Given the description of an element on the screen output the (x, y) to click on. 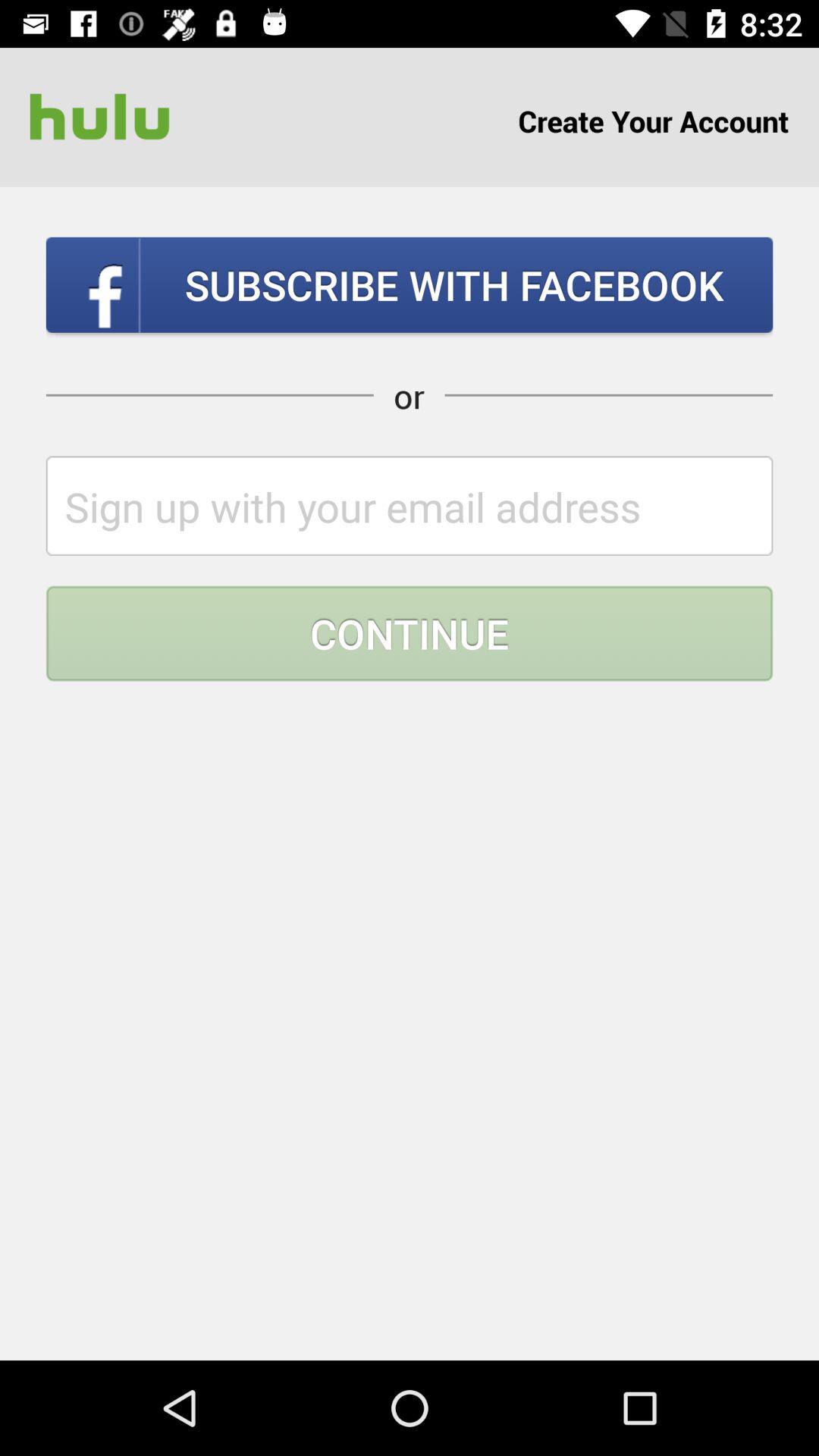
choose subscribe with facebook item (409, 284)
